Given the description of an element on the screen output the (x, y) to click on. 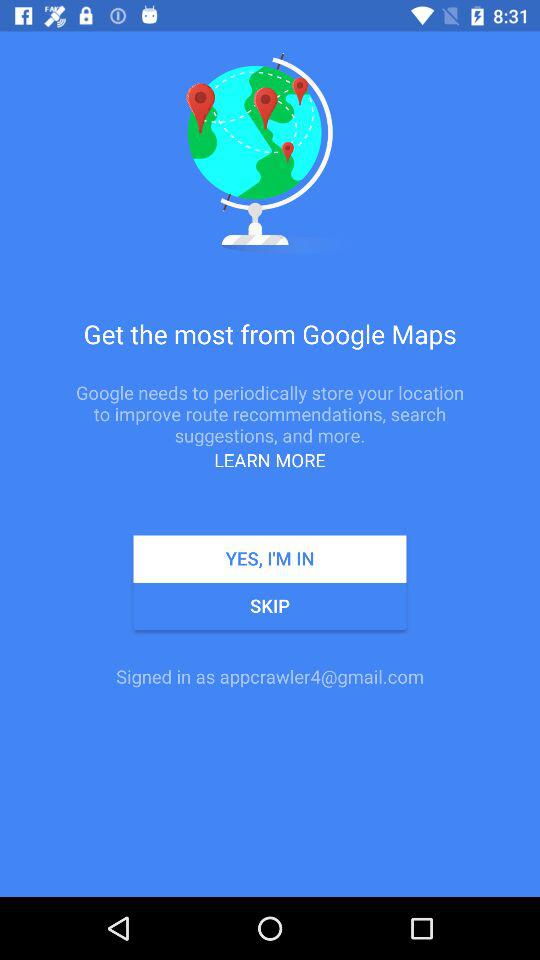
choose the skip icon (269, 606)
